Given the description of an element on the screen output the (x, y) to click on. 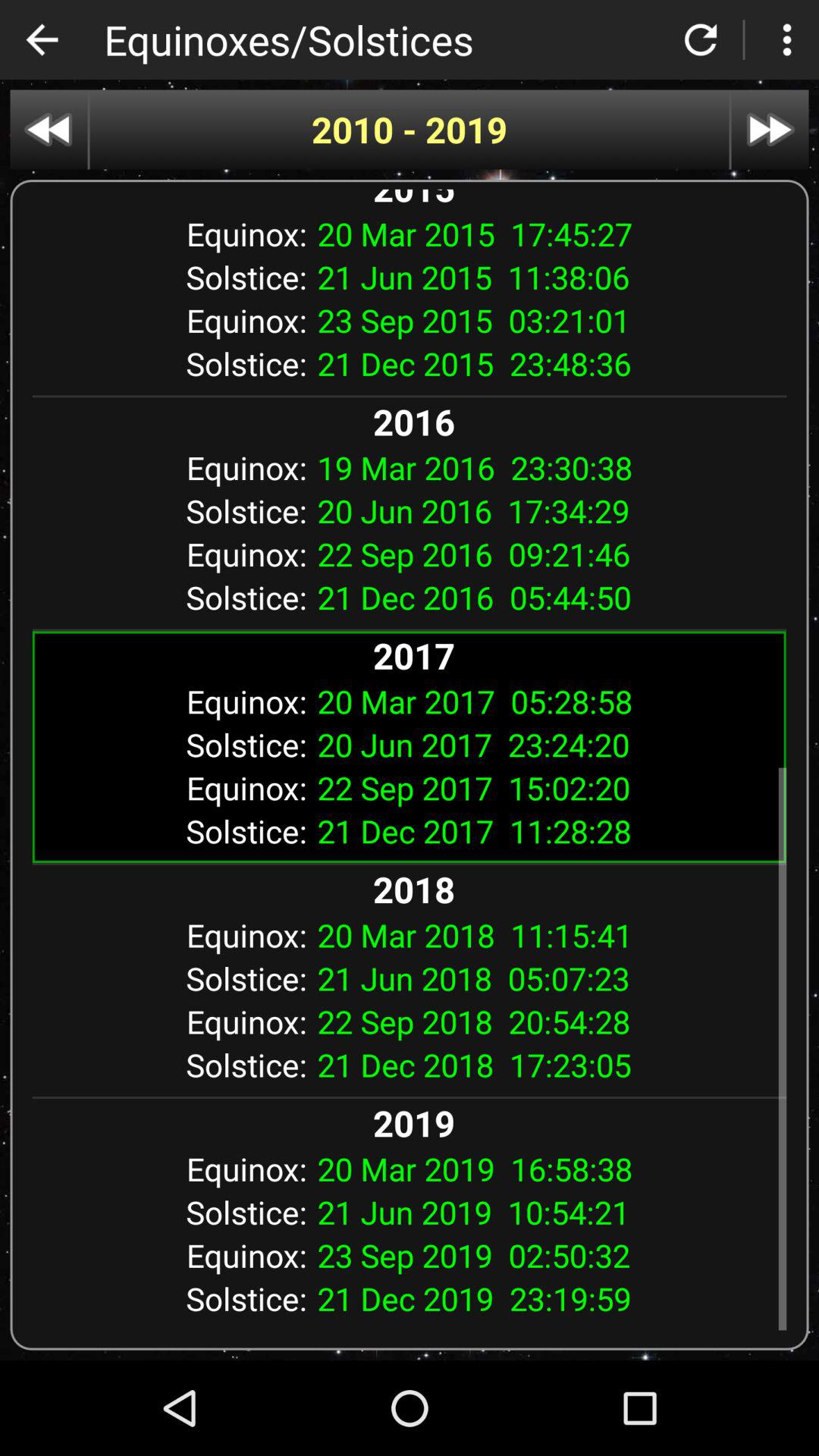
turn on app above solstice: icon (546, 467)
